Given the description of an element on the screen output the (x, y) to click on. 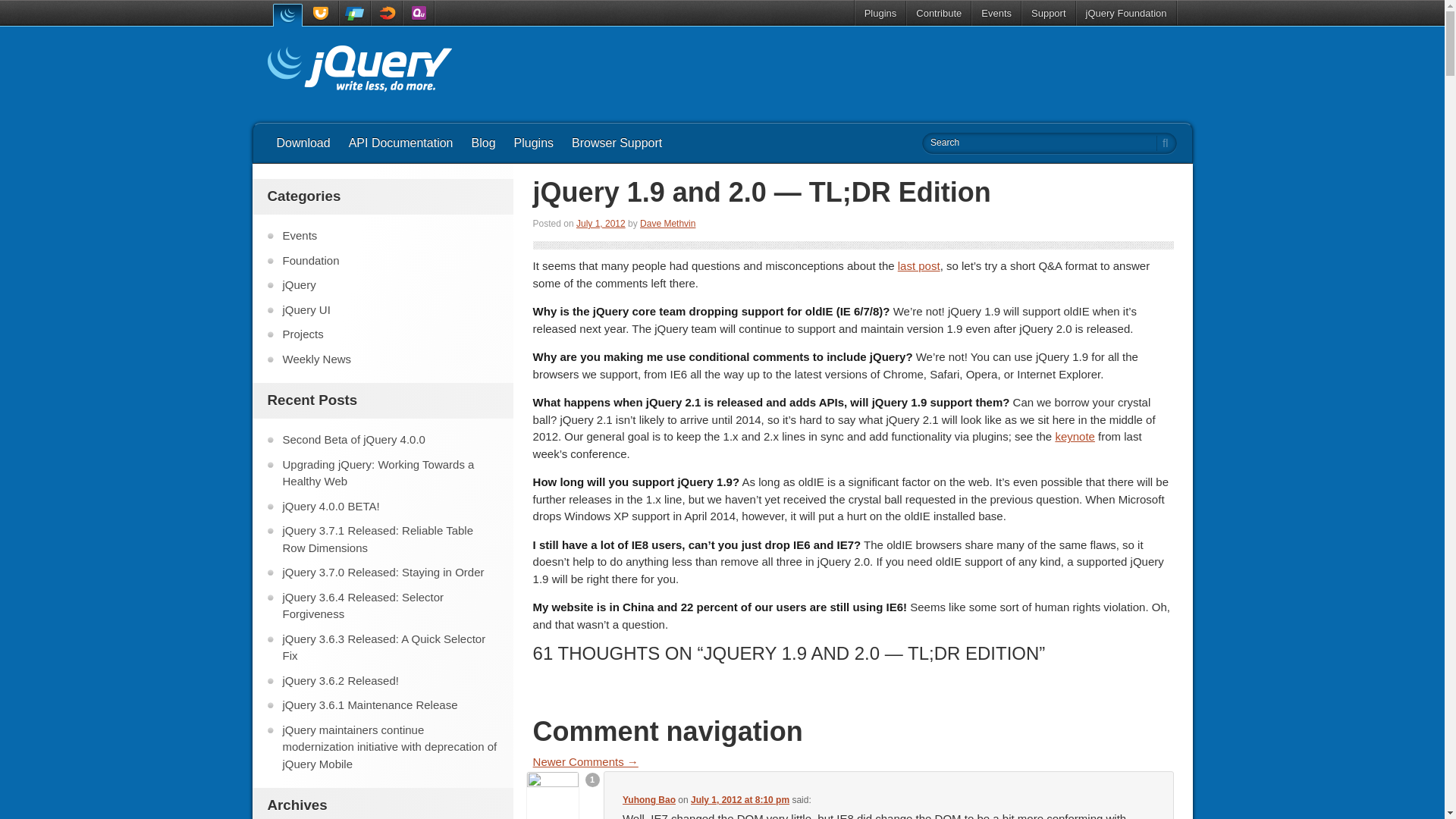
Support (1048, 12)
jQuery UI (321, 12)
jQuery Mobile (354, 12)
5:52 pm (601, 223)
QUnit (418, 12)
jQuery Mobile (354, 12)
jQuery UI (321, 12)
Plugins (533, 143)
jQuery (285, 13)
jQuery (285, 13)
Browser Support (616, 143)
July 1, 2012 (601, 223)
Blog (483, 143)
API Documentation (400, 143)
View all posts by Dave Methvin (667, 223)
